Given the description of an element on the screen output the (x, y) to click on. 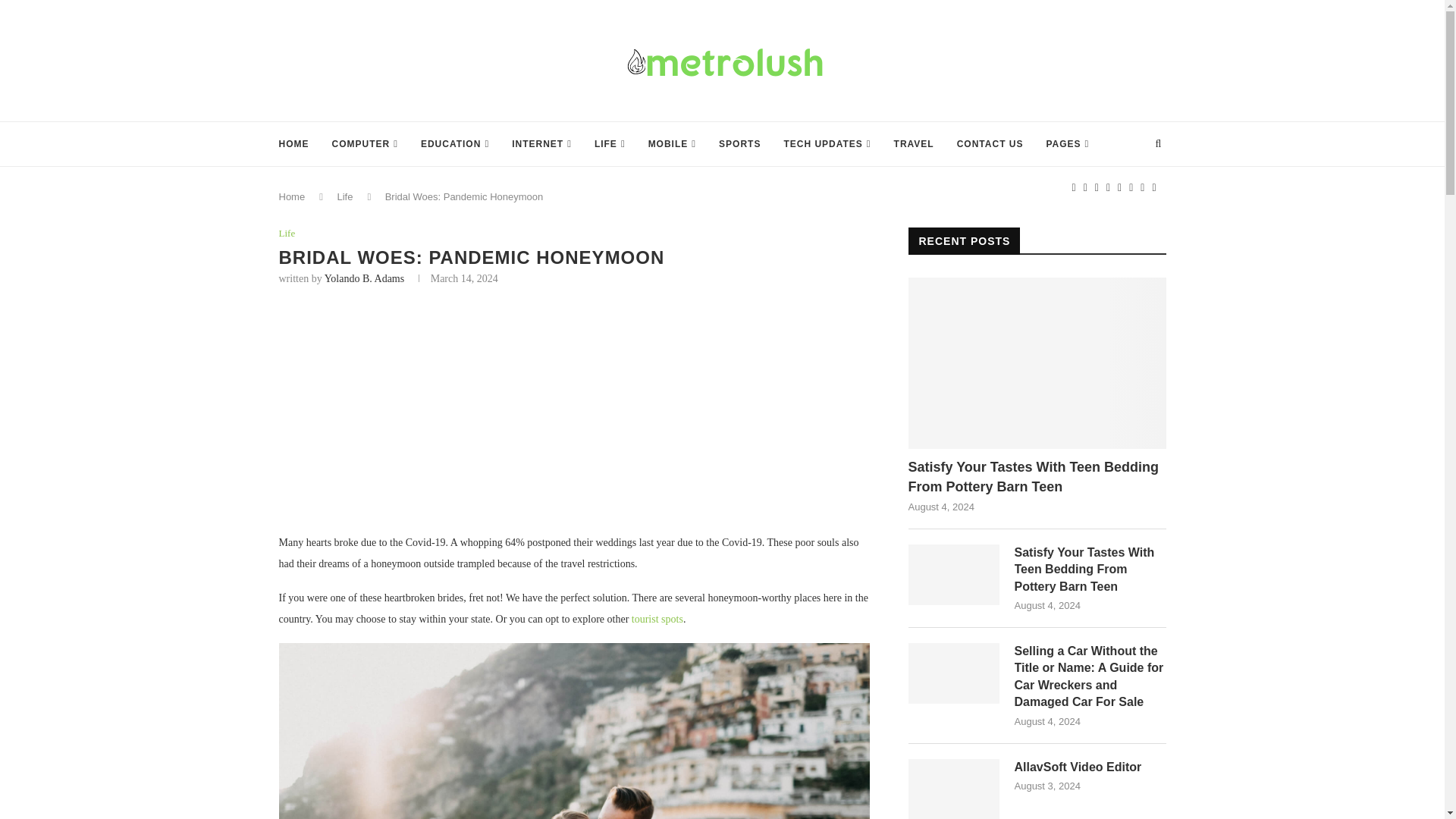
Bridal Woes: Pandemic Honeymoon 2 (574, 730)
Advertisement (574, 418)
